Given the description of an element on the screen output the (x, y) to click on. 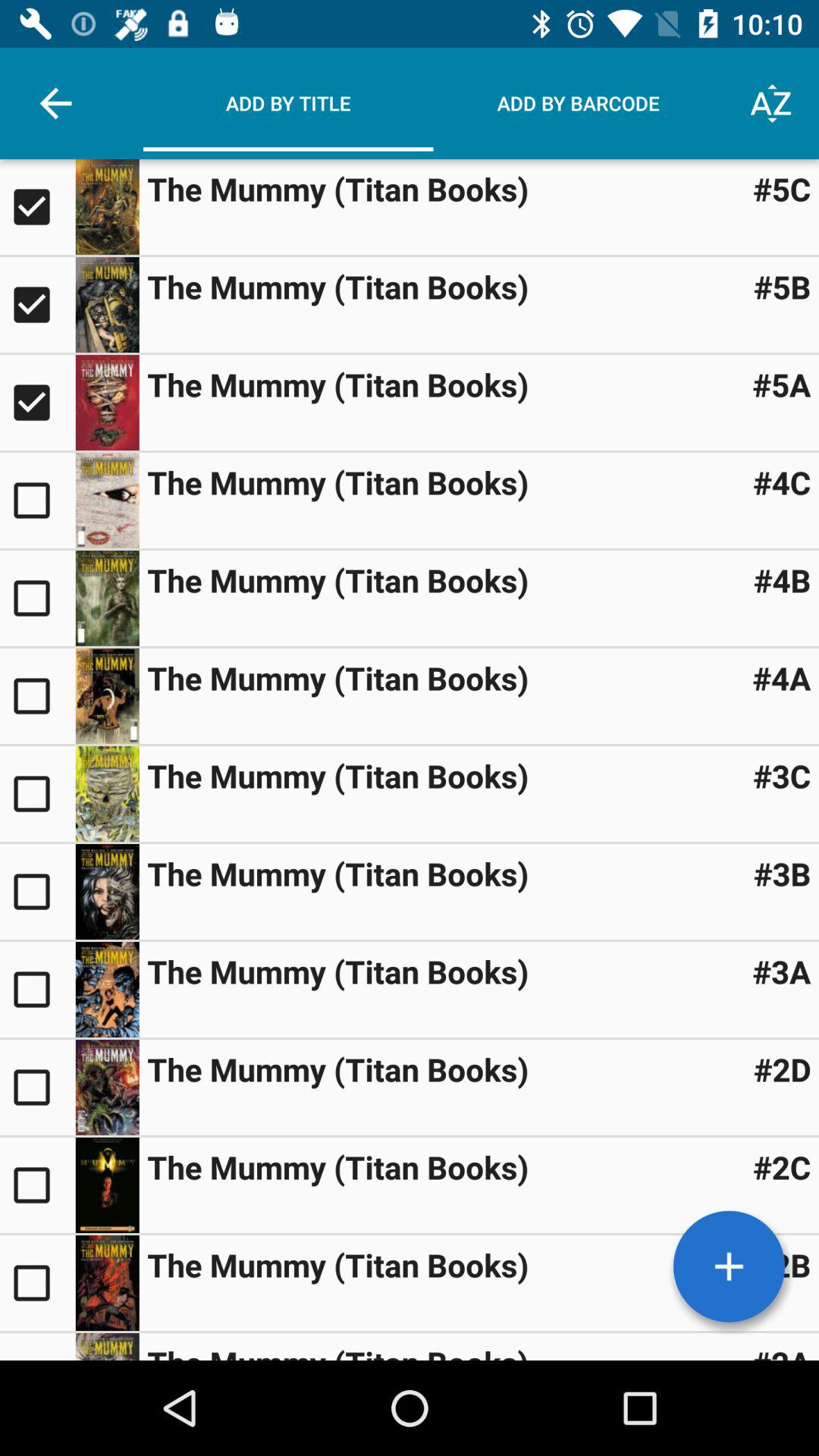
view book details (107, 500)
